Given the description of an element on the screen output the (x, y) to click on. 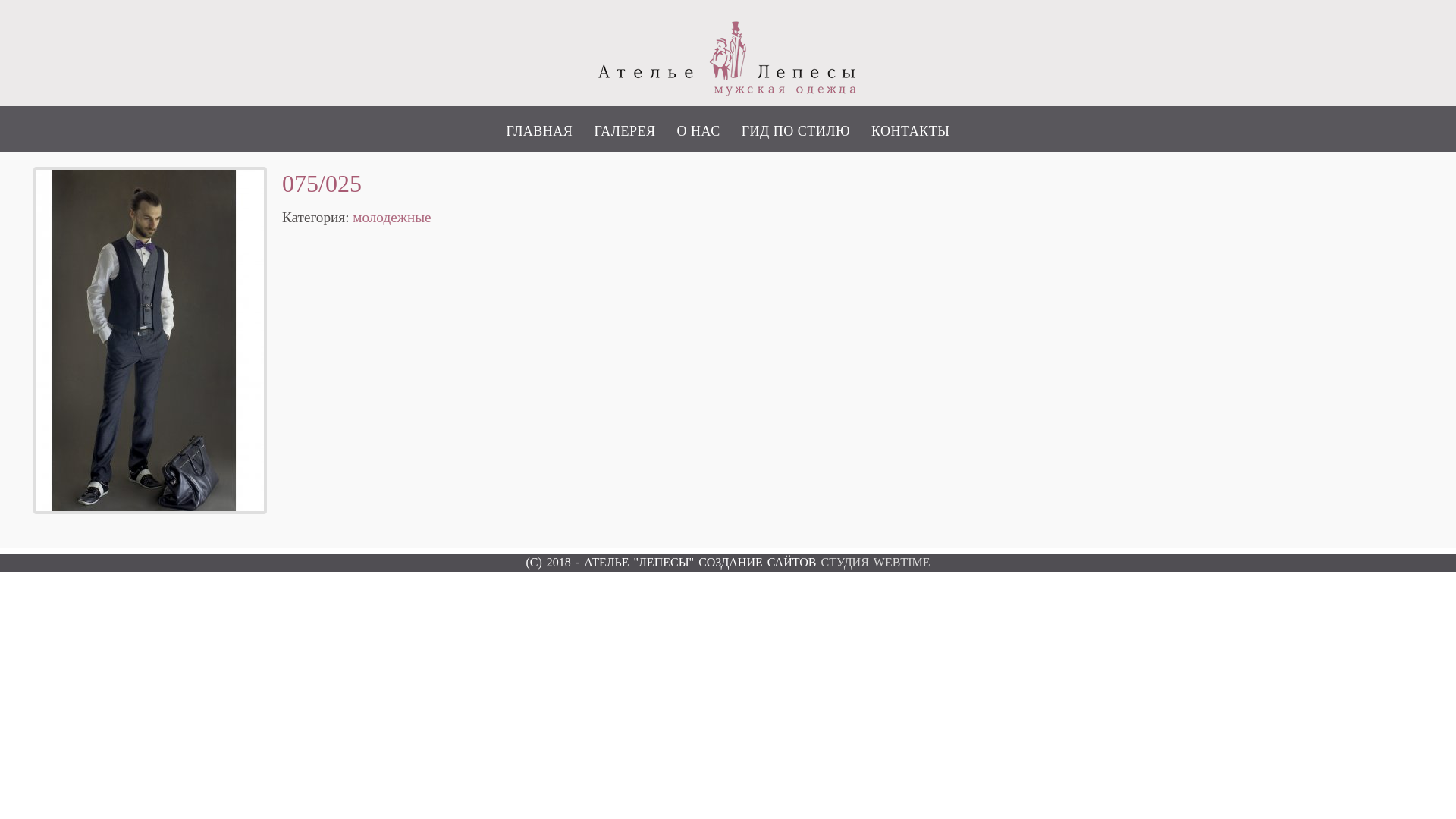
25 Element type: hover (149, 338)
